Given the description of an element on the screen output the (x, y) to click on. 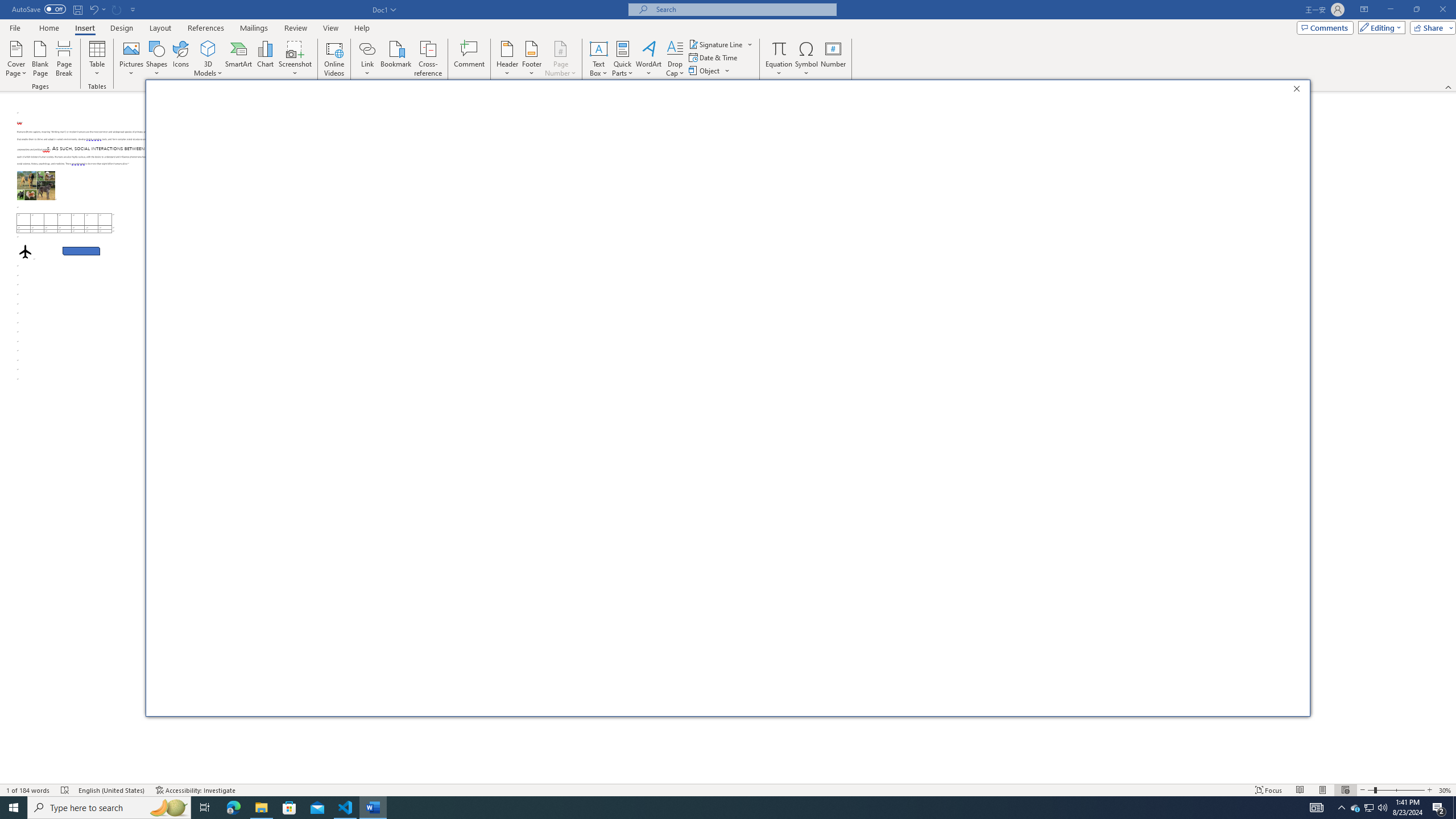
Undo Apply Quick Style Set (96, 9)
Microsoft Edge (233, 807)
Cover Page (16, 58)
Word - 1 running window (373, 807)
Signature Line (716, 44)
Search Icons (725, 178)
Illustrations (376, 146)
Bookmark... (396, 58)
Action Center, 2 new notifications (1439, 807)
